Given the description of an element on the screen output the (x, y) to click on. 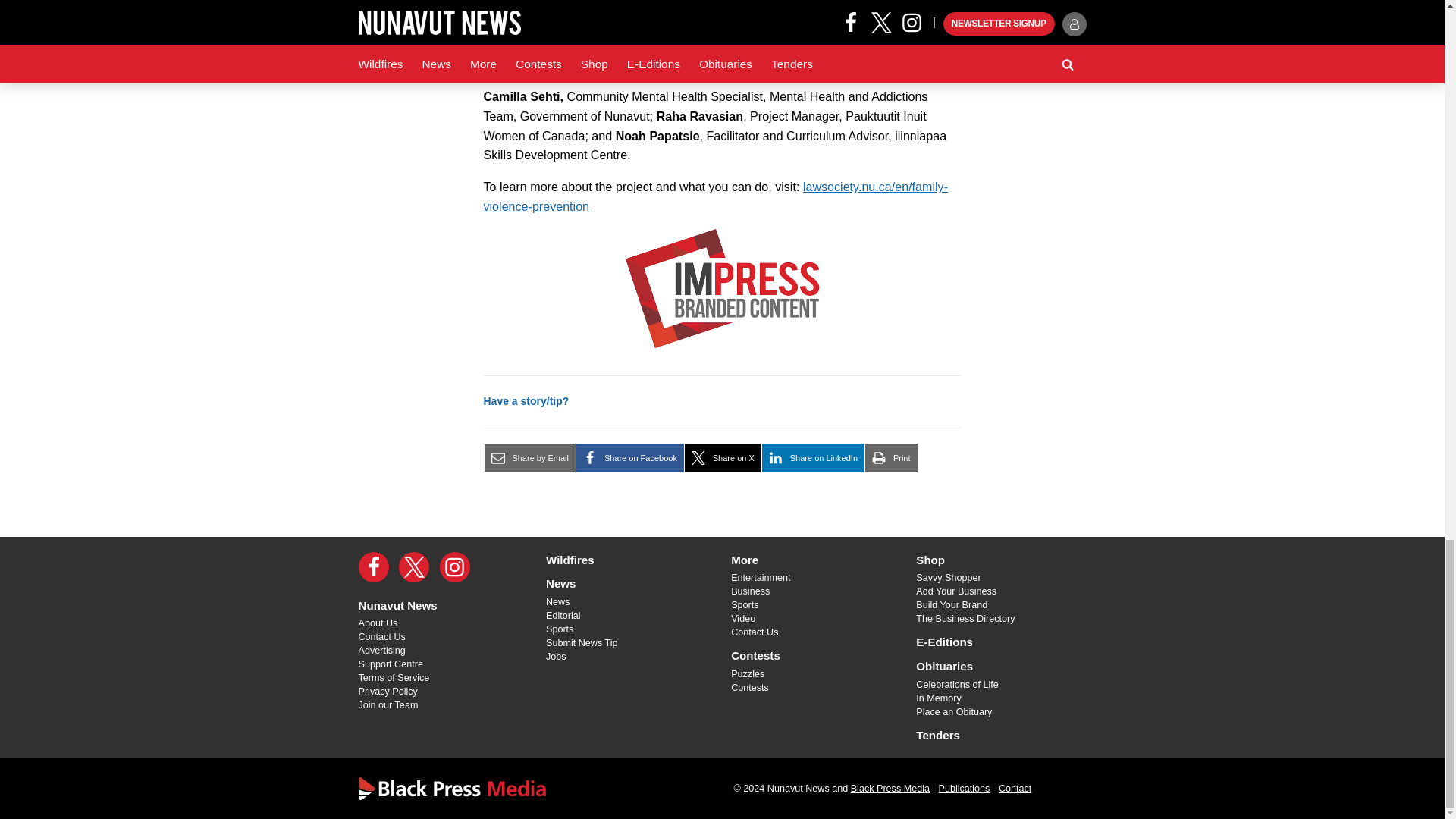
X (413, 567)
Facebook (373, 567)
Instagram (454, 567)
